Given the description of an element on the screen output the (x, y) to click on. 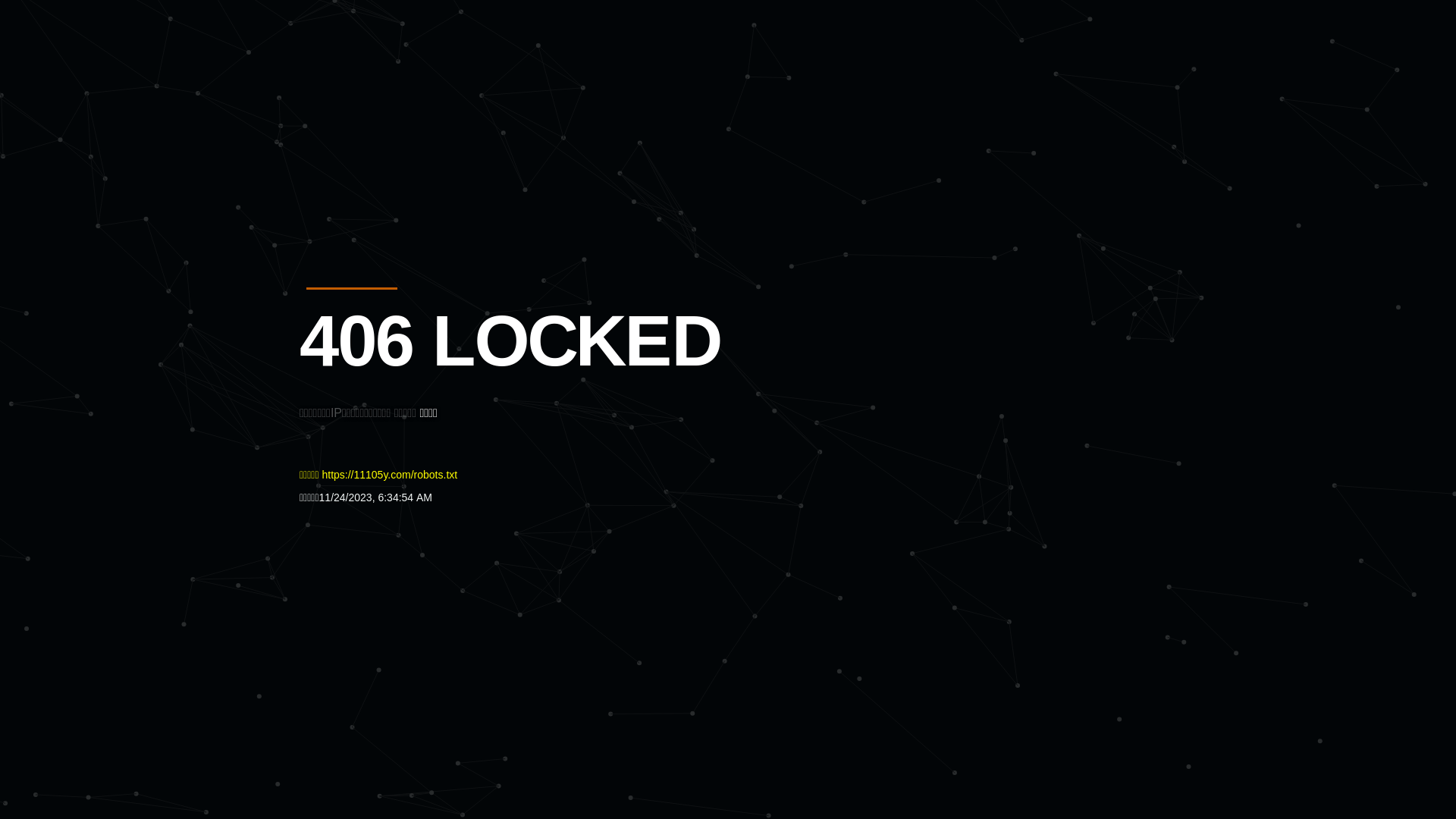
Quatro Element type: text (410, 86)
